Given the description of an element on the screen output the (x, y) to click on. 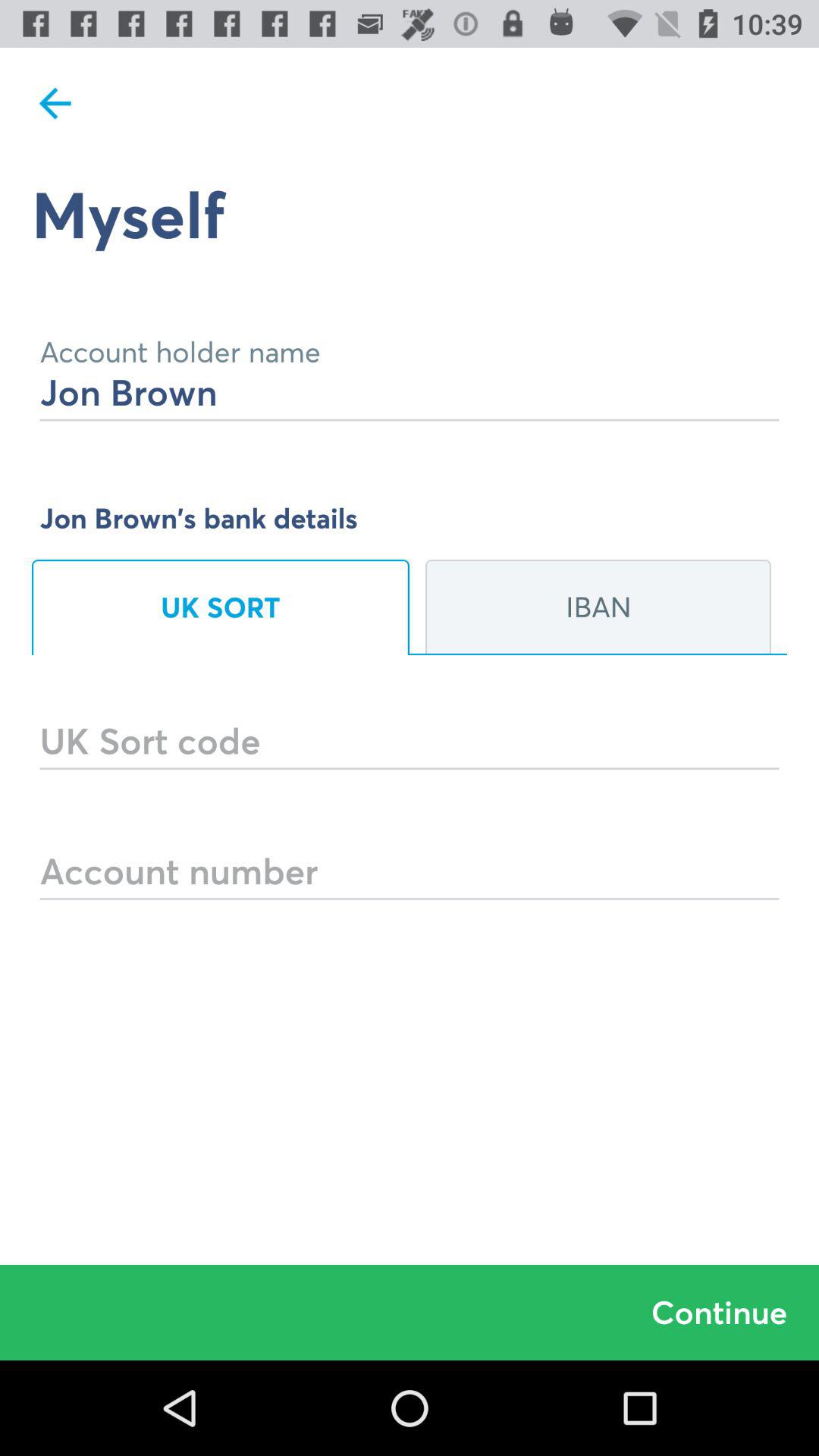
turn off item next to uk sort icon (598, 607)
